Given the description of an element on the screen output the (x, y) to click on. 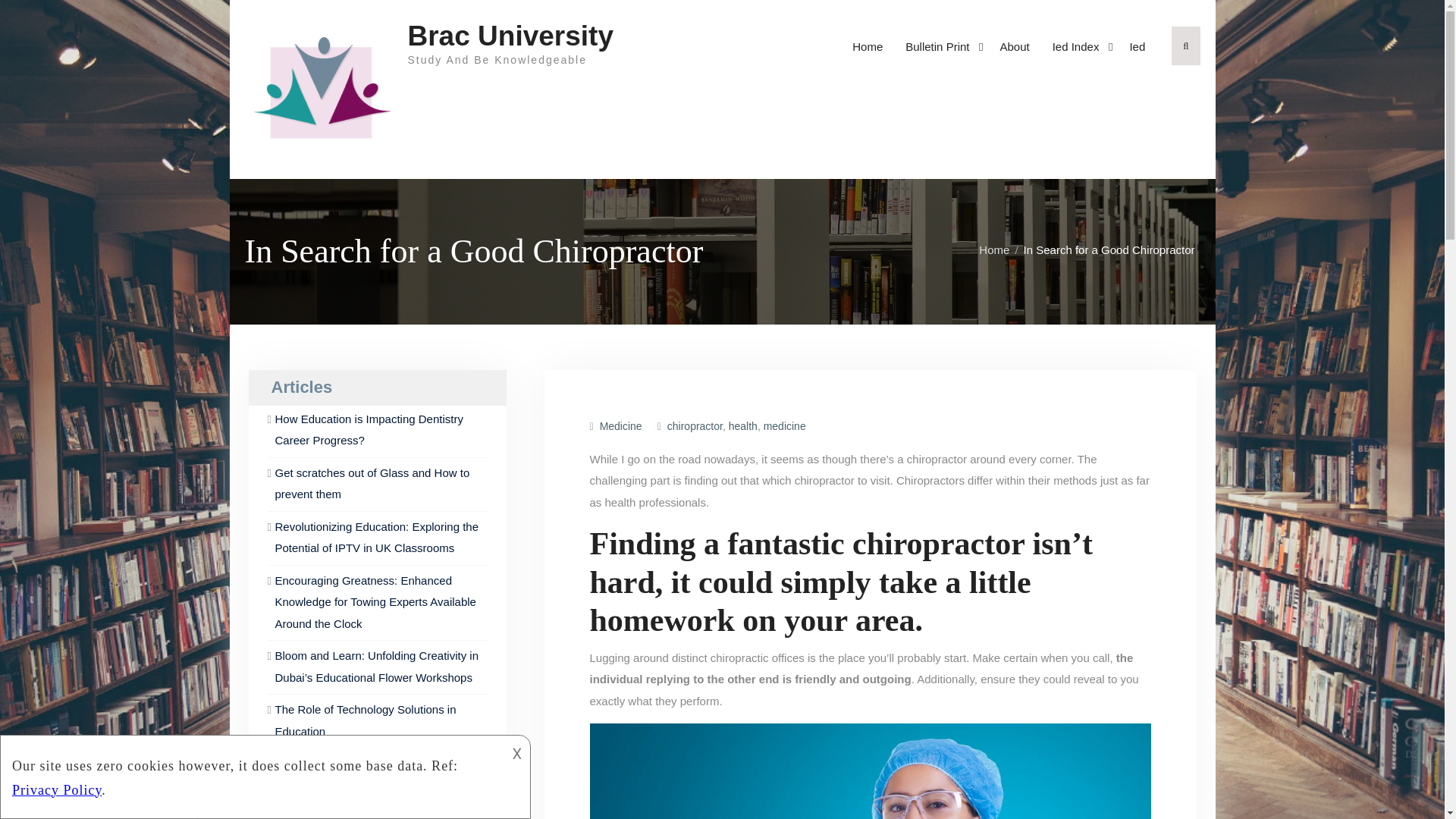
Brac University (509, 35)
Ied Index (1079, 47)
About (1014, 47)
Home (867, 47)
description (252, 773)
Bulletin Print (940, 47)
